Given the description of an element on the screen output the (x, y) to click on. 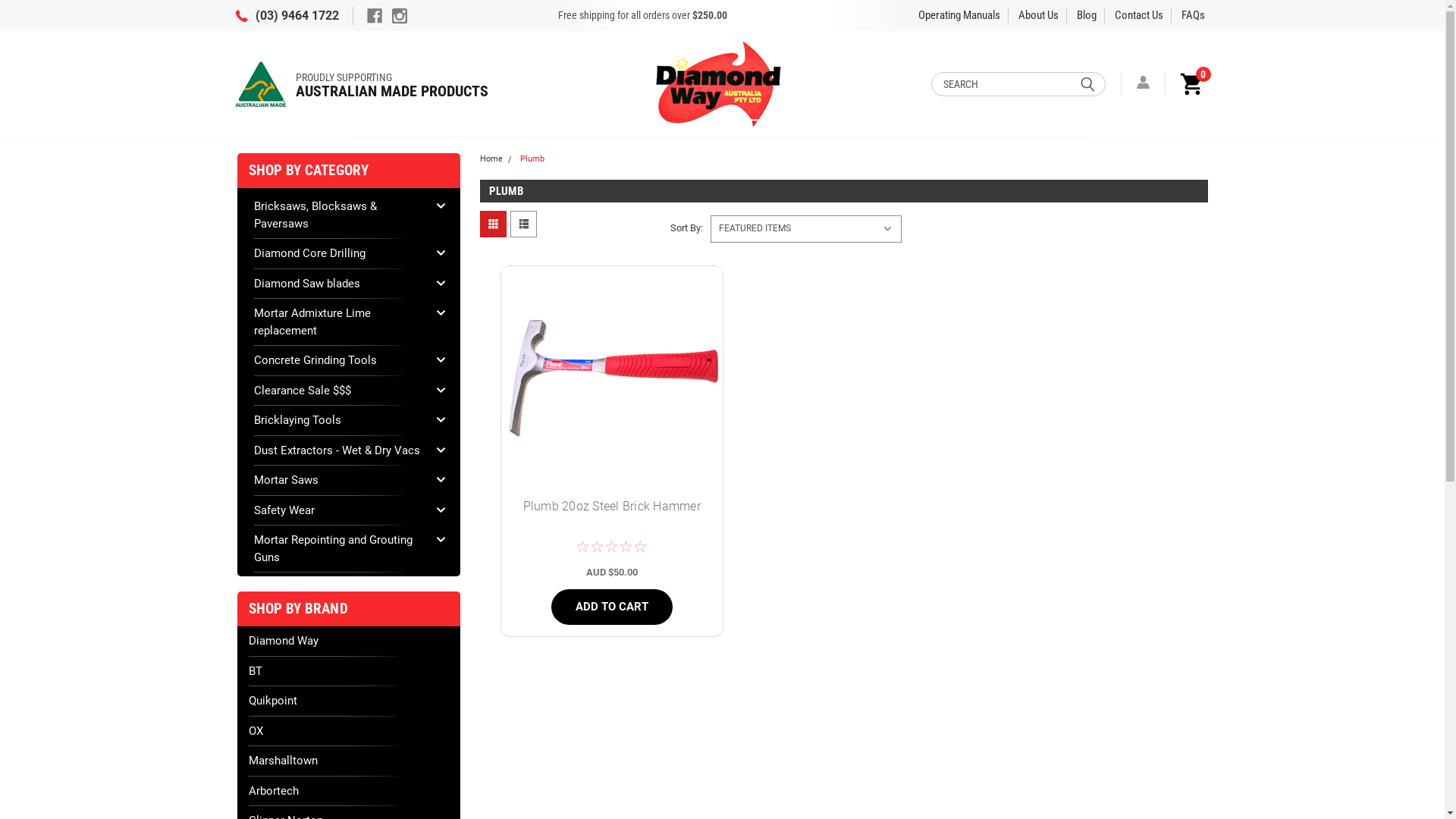
FAQs Element type: text (1192, 14)
Diamond Way Element type: text (348, 640)
Arbortech Element type: text (348, 791)
About Us Element type: text (1038, 14)
BT Element type: text (348, 671)
Bricklaying Tools Element type: text (339, 420)
Mortar Admixture Lime replacement Element type: text (339, 321)
ADD TO CART Element type: text (611, 606)
Diamond Way Online Element type: hover (720, 83)
Home Element type: text (490, 158)
Safety Wear Element type: text (339, 510)
submit Element type: hover (1087, 83)
Plumb Element type: text (532, 158)
Contact Us Element type: text (1138, 14)
Dust Extractors - Wet & Dry Vacs Element type: text (339, 449)
Plumb 20oz Steel Brick Hammer Element type: text (611, 513)
Operating Manuals Element type: text (959, 14)
Quikpoint Element type: text (348, 700)
Plumb 20oz Brick Hammer (Steel Handle) Element type: hover (611, 375)
Marshalltown Element type: text (348, 760)
Diamond Saw blades Element type: text (339, 282)
Concrete Grinding Tools Element type: text (339, 360)
0 Element type: text (1189, 82)
Bricksaws, Blocksaws & Paversaws Element type: text (339, 214)
Mortar Repointing and Grouting Guns Element type: text (339, 548)
Clearance Sale $$$ Element type: text (339, 390)
Diamond Core Drilling Element type: text (339, 253)
Mortar Saws Element type: text (339, 480)
Blog Element type: text (1086, 14)
OX Element type: text (348, 730)
